Given the description of an element on the screen output the (x, y) to click on. 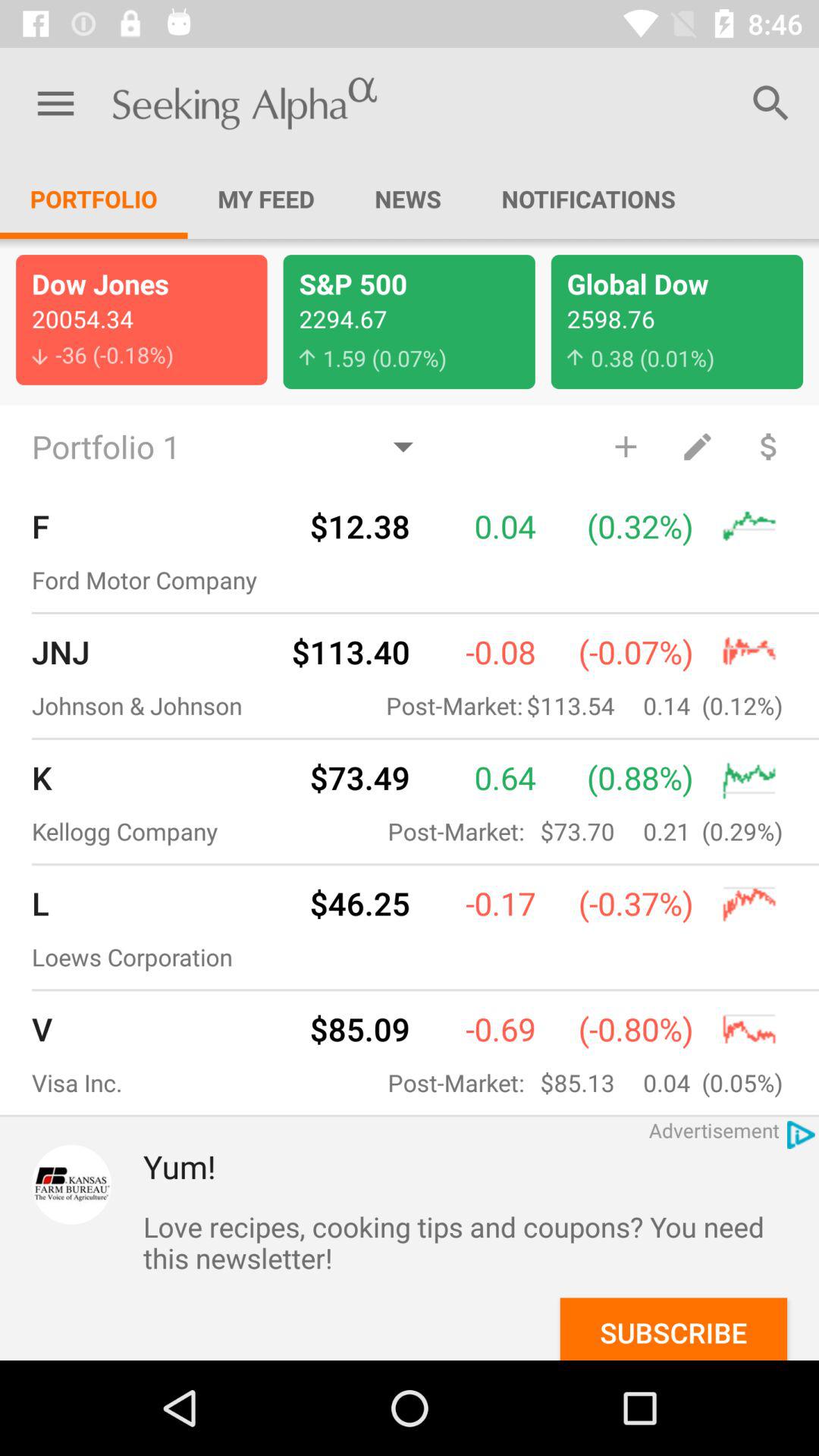
launch icon above the love recipes cooking (481, 1166)
